Given the description of an element on the screen output the (x, y) to click on. 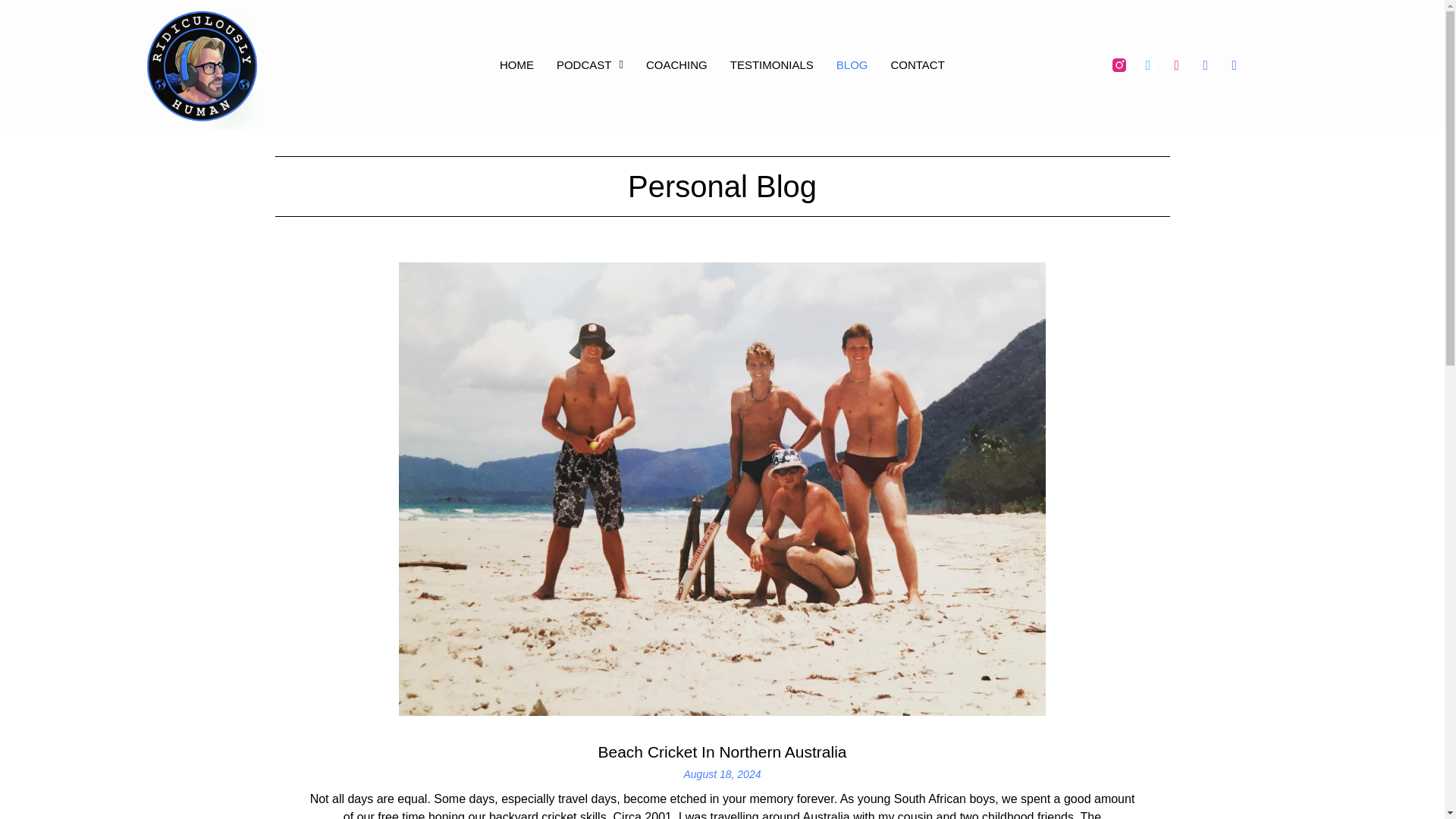
HOME (516, 65)
BLOG (851, 65)
TESTIMONIALS (771, 65)
Beach Cricket In Northern Australia (720, 751)
CONTACT (916, 65)
PODCAST (589, 65)
COACHING (676, 65)
